Given the description of an element on the screen output the (x, y) to click on. 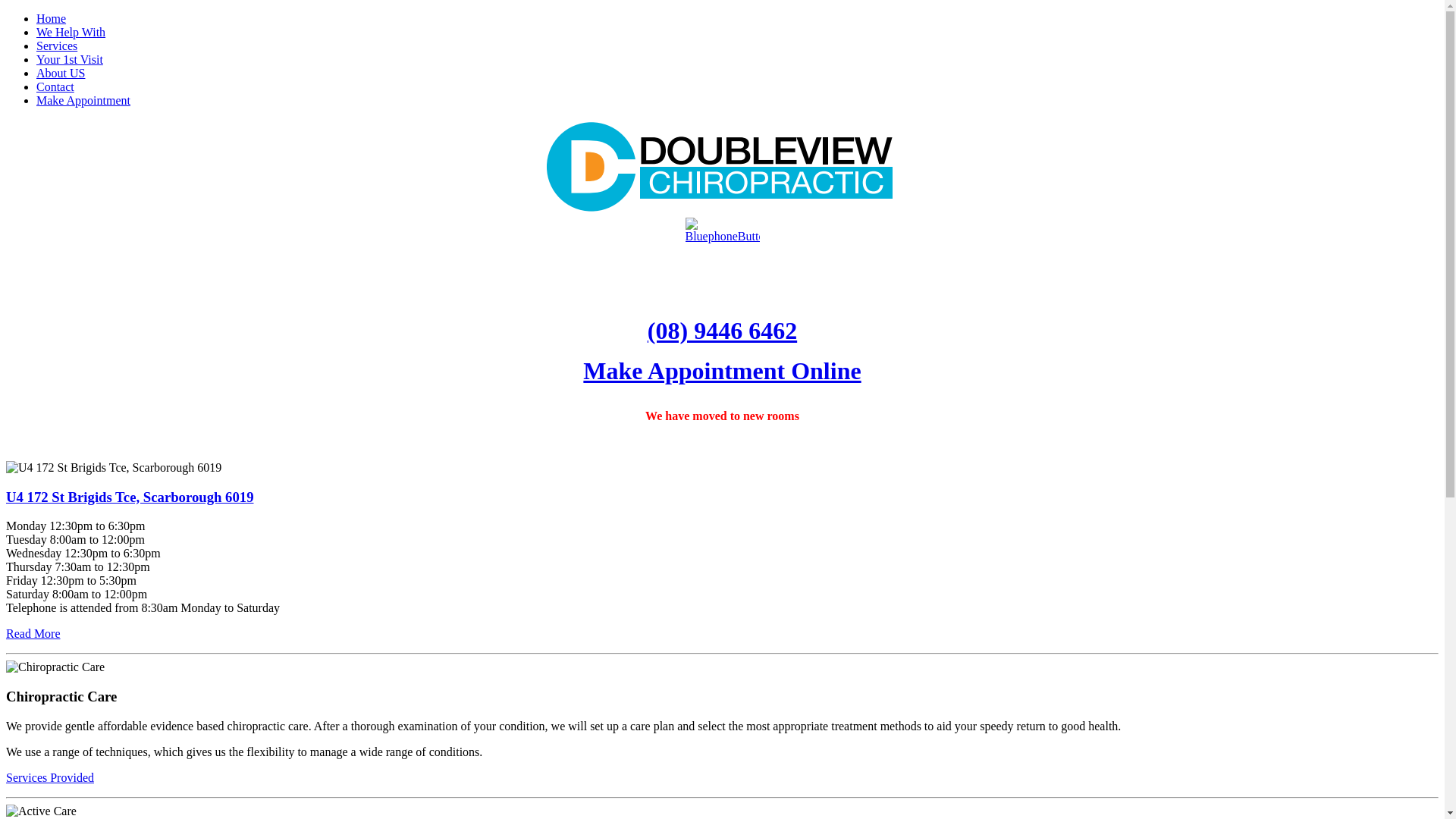
Services Element type: text (56, 45)
Make Appointment Element type: text (83, 100)
Read More Element type: text (33, 633)
Services Provided Element type: text (50, 777)
(08) 9446 6462 Element type: text (722, 330)
Make Appointment Online Element type: text (721, 370)
Home Element type: text (50, 18)
U4 172 St Brigids Tce, Scarborough 6019 Element type: text (129, 497)
Contact Element type: text (55, 86)
We Help With Element type: text (70, 31)
About US Element type: text (60, 72)
Your 1st Visit Element type: text (69, 59)
